Given the description of an element on the screen output the (x, y) to click on. 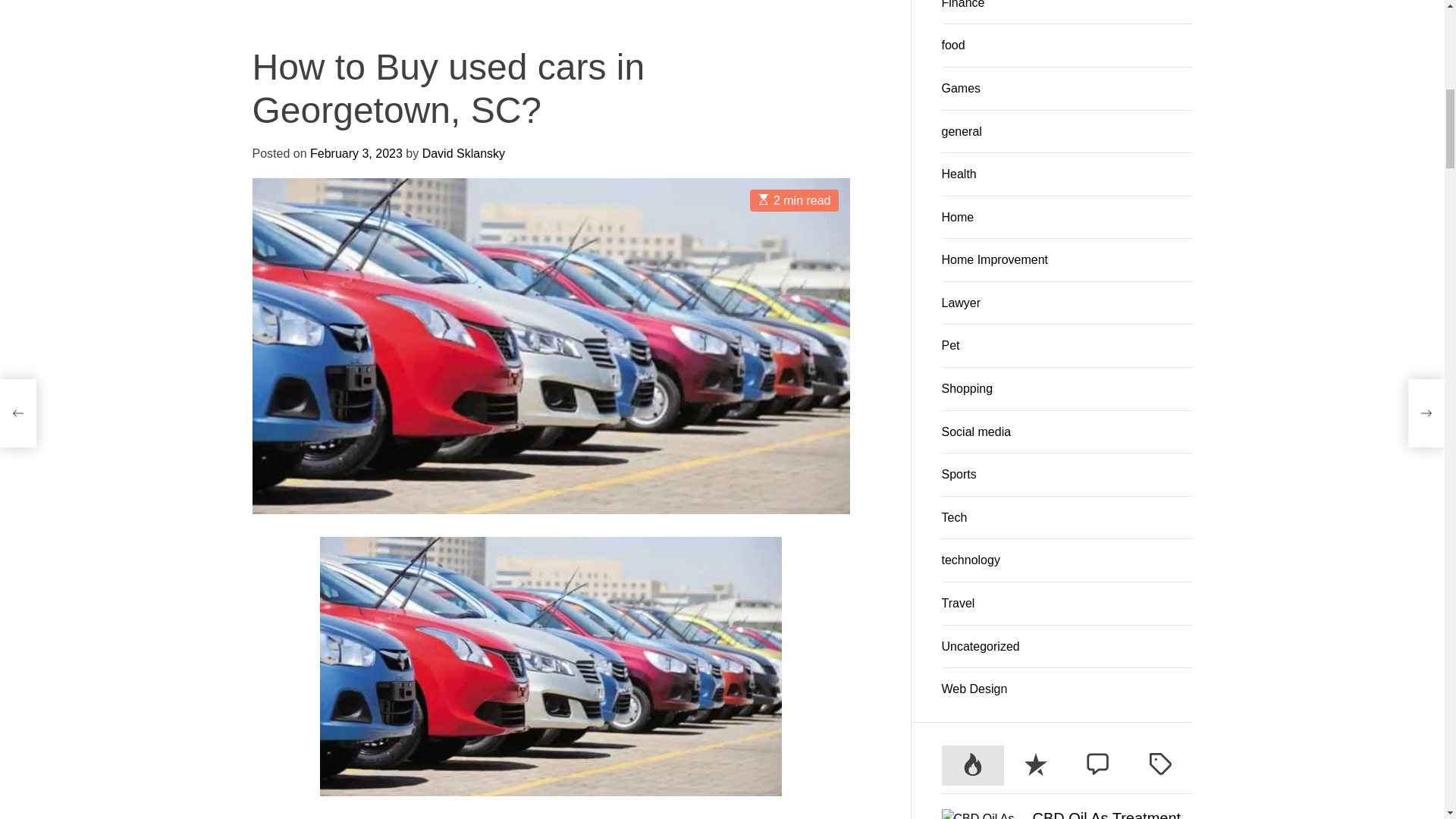
used cars in georgetown sc (708, 443)
